Given the description of an element on the screen output the (x, y) to click on. 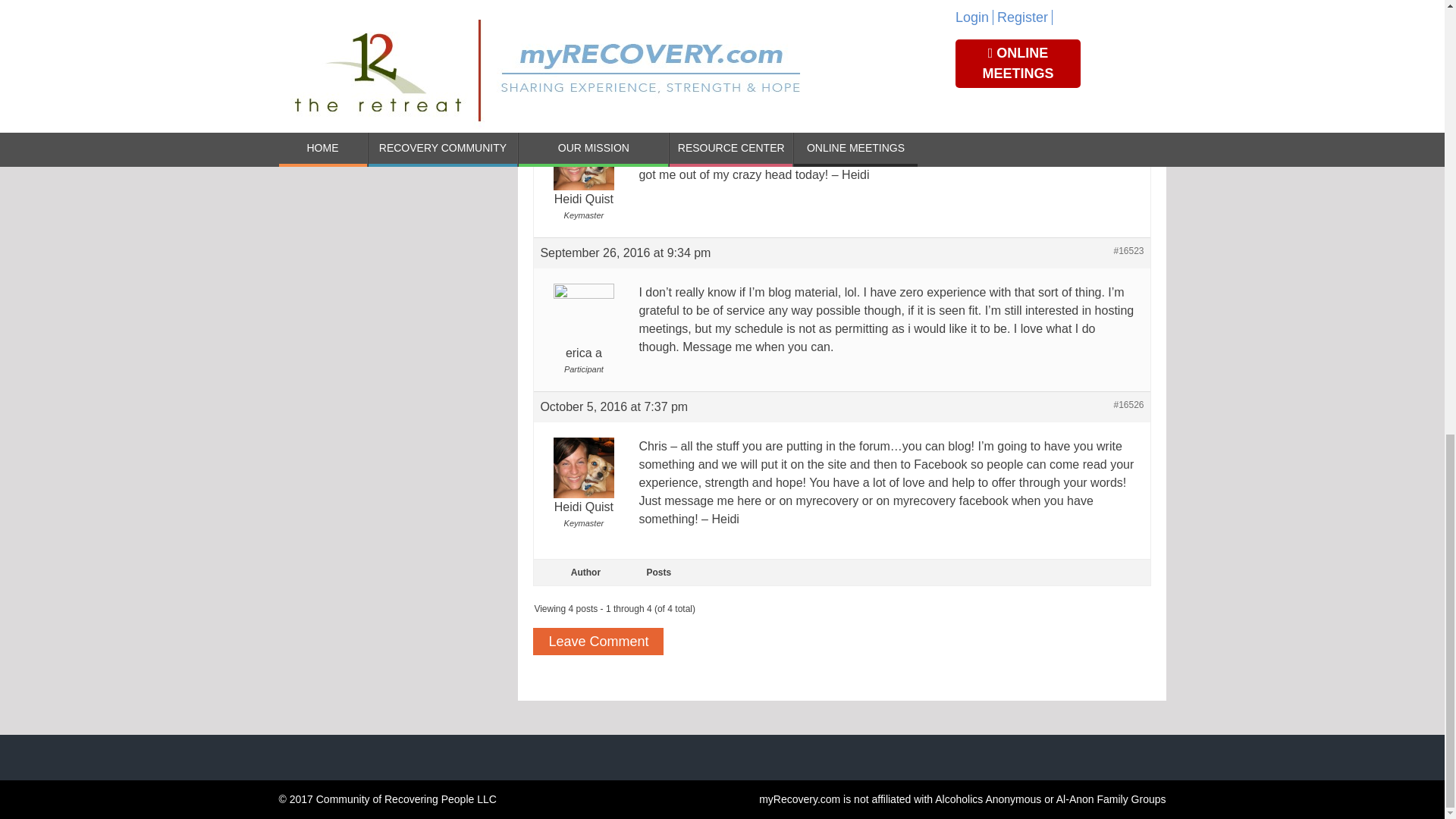
Leave Comment (597, 641)
